Given the description of an element on the screen output the (x, y) to click on. 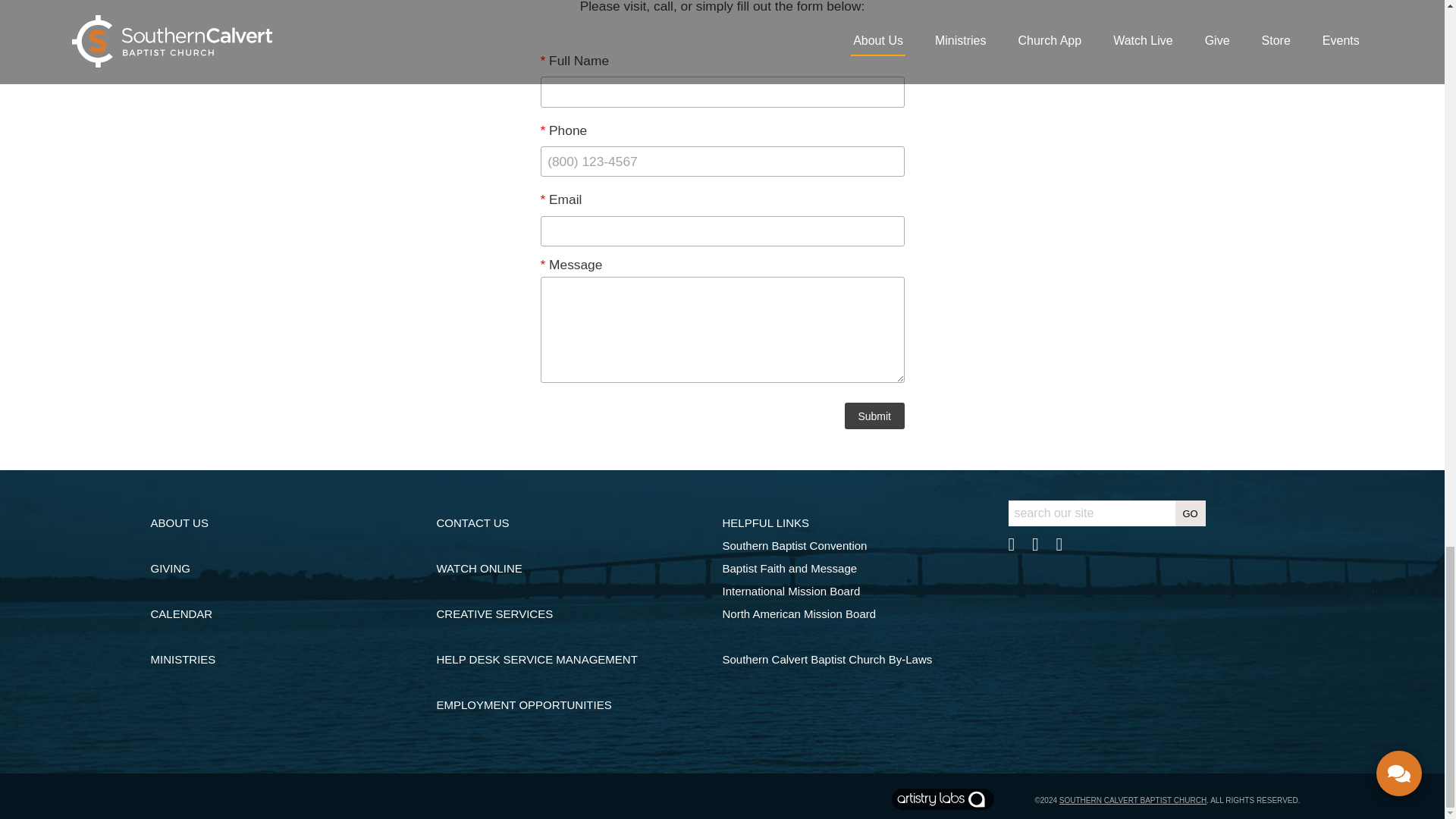
Submit (874, 415)
CONTACT US (472, 522)
MINISTRIES (182, 658)
Submit (874, 415)
CALENDAR (180, 613)
GIVING (169, 567)
ABOUT US (178, 522)
